Given the description of an element on the screen output the (x, y) to click on. 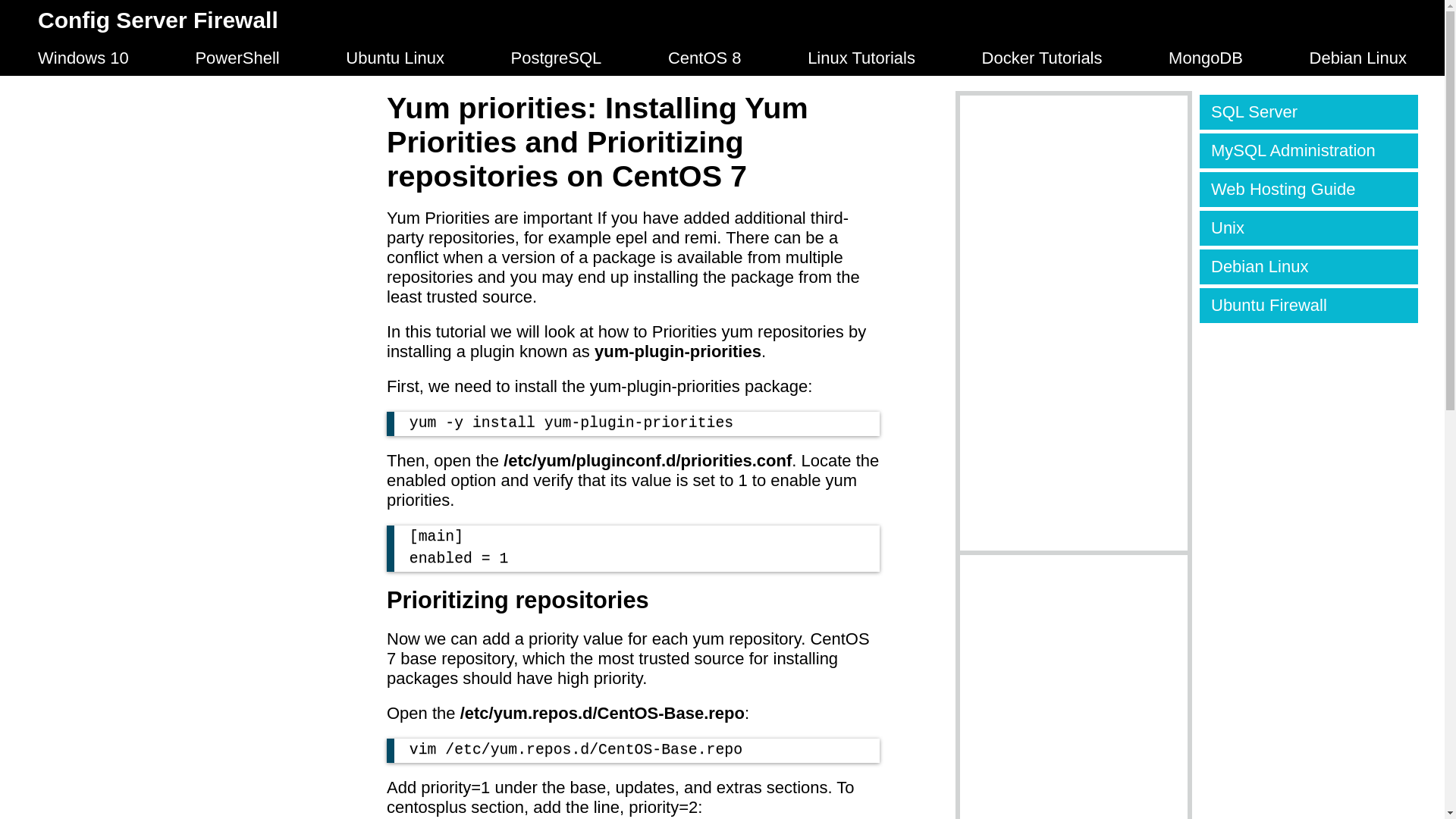
Debian Linux (1308, 266)
Linux Tutorials (861, 57)
Ubuntu Firewall (1308, 305)
PostgreSQL (556, 57)
Windows 10 (83, 57)
Debian Linux (1357, 57)
MongoDB (1206, 57)
SQL Server (1308, 112)
MySQL Administration (1308, 150)
PowerShell (237, 57)
